Given the description of an element on the screen output the (x, y) to click on. 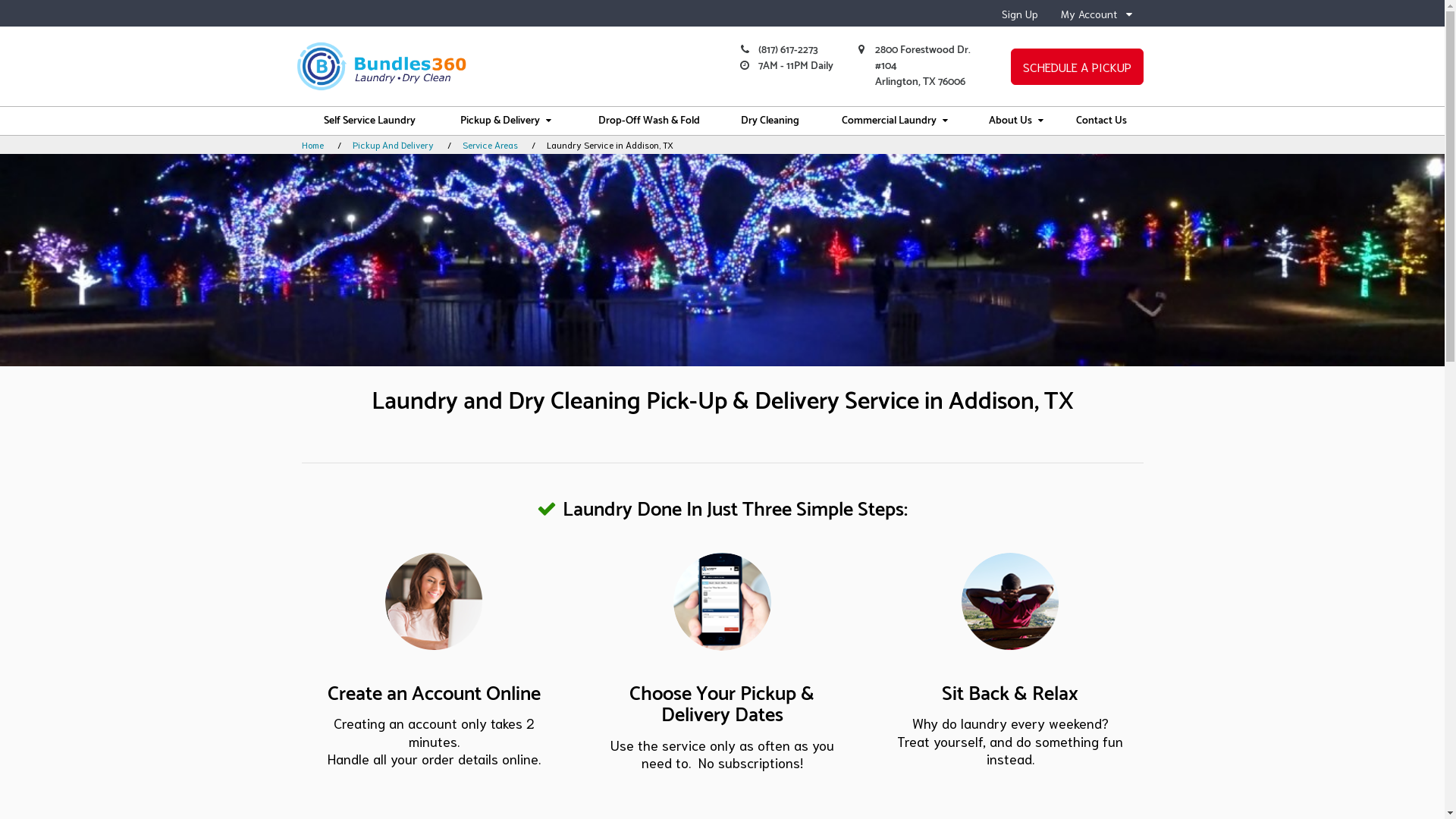
Contact Us Element type: text (1101, 120)
About Us Element type: text (1016, 120)
Pickup & Delivery Element type: text (506, 120)
2800 Forestwood Dr.
#104
Arlington, TX 76006 Element type: text (922, 66)
Self Service Laundry Element type: text (369, 120)
Dry Cleaning Element type: text (769, 120)
Drop-Off Wash & Fold Element type: text (649, 120)
My Account Element type: text (1095, 13)
Sign Up Element type: text (1019, 13)
Home Element type: text (312, 144)
Service Areas Element type: text (489, 144)
(817) 617-2273 Element type: text (788, 50)
Pickup And Delivery Element type: text (392, 144)
SCHEDULE A PICKUP Element type: text (1076, 66)
Commercial Laundry Element type: text (894, 120)
